Given the description of an element on the screen output the (x, y) to click on. 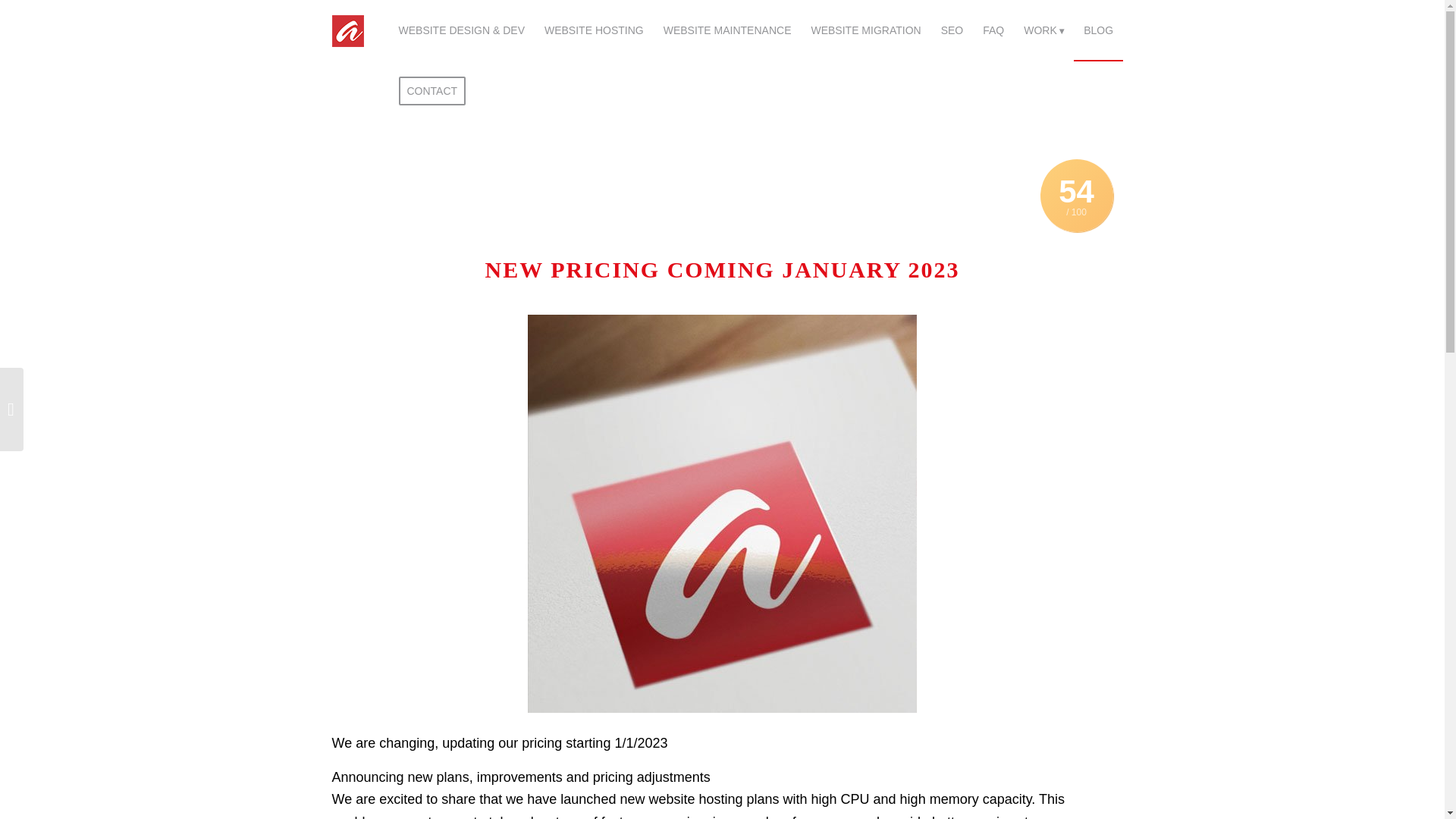
WEBSITE MIGRATION (865, 30)
WORK (1043, 30)
logo-anristudio (347, 30)
CONTACT (432, 90)
WEBSITE MAINTENANCE (727, 30)
WEBSITE HOSTING (593, 30)
